Given the description of an element on the screen output the (x, y) to click on. 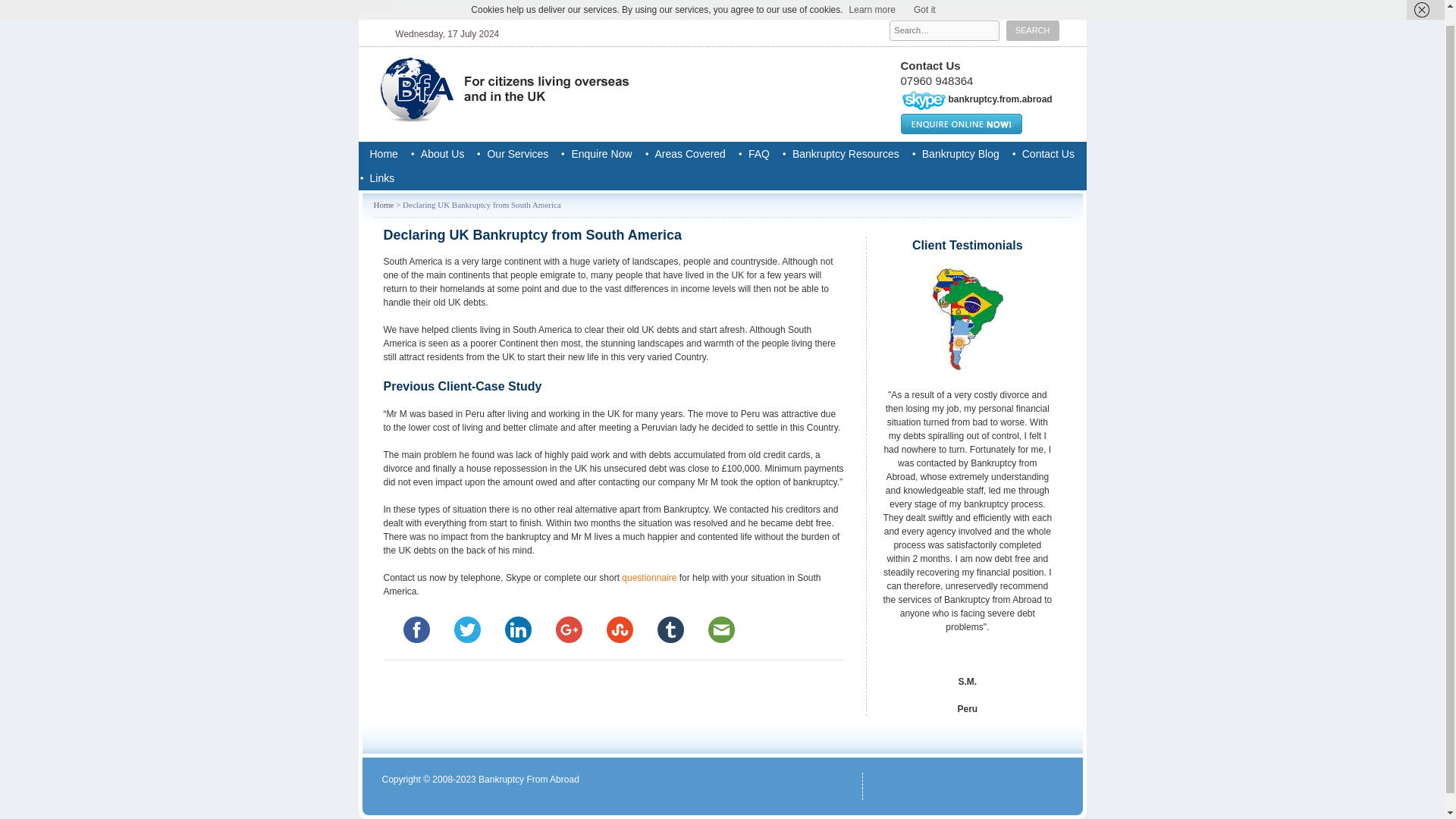
Search for: (943, 30)
Search (1032, 30)
linkedin (517, 629)
Search (1032, 30)
About Us (442, 153)
Search (1032, 30)
facebook (415, 629)
Home (383, 153)
Areas Covered (689, 153)
Search (1032, 30)
Enquire Now (601, 153)
twitter (466, 629)
email (721, 629)
tumblr (669, 629)
